Given the description of an element on the screen output the (x, y) to click on. 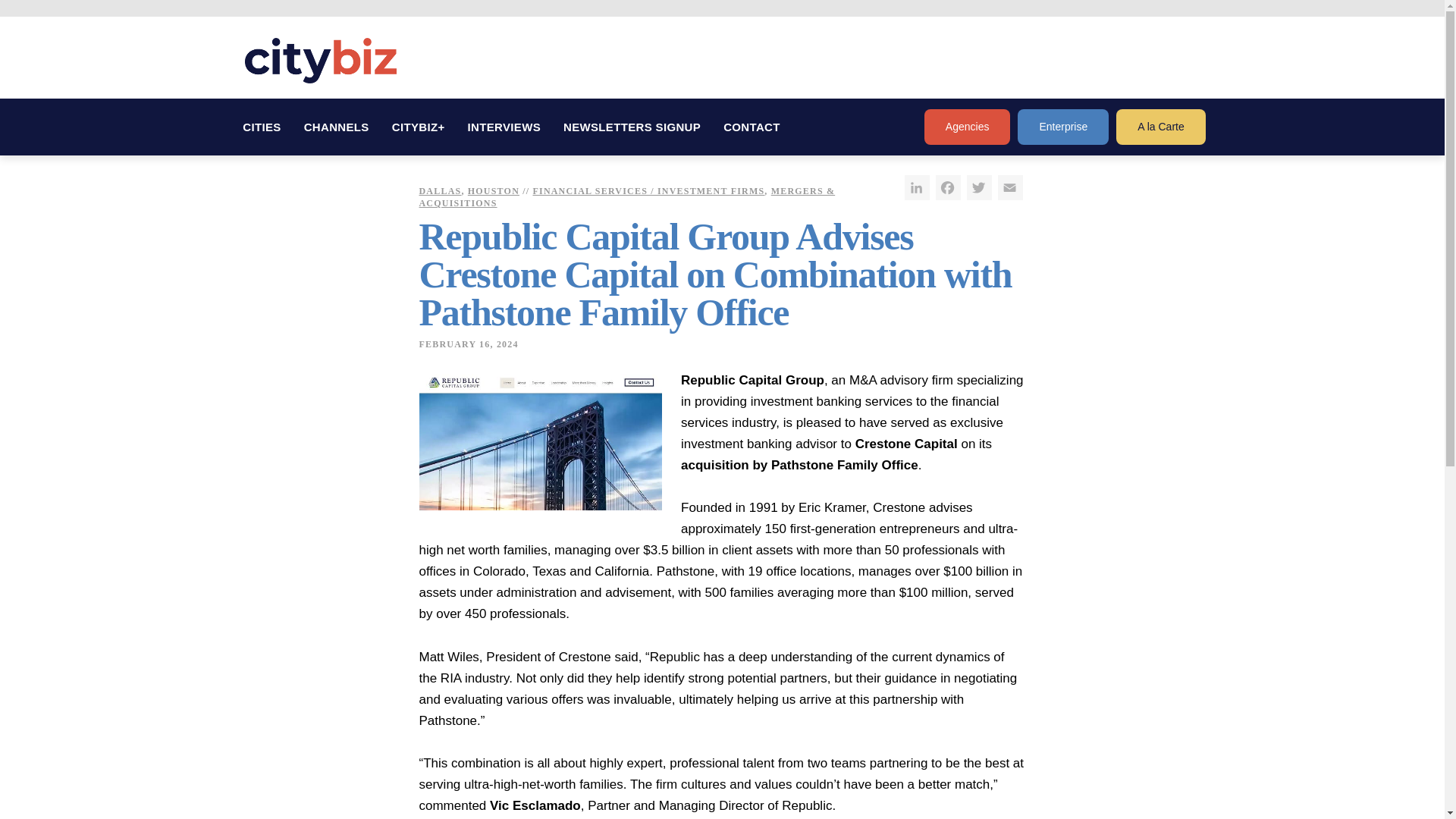
Email (1010, 187)
CITIES (261, 127)
citybiz (320, 60)
Twitter (978, 187)
citybiz (320, 60)
Facebook (948, 187)
LinkedIn (916, 187)
CHANNELS (336, 127)
